Given the description of an element on the screen output the (x, y) to click on. 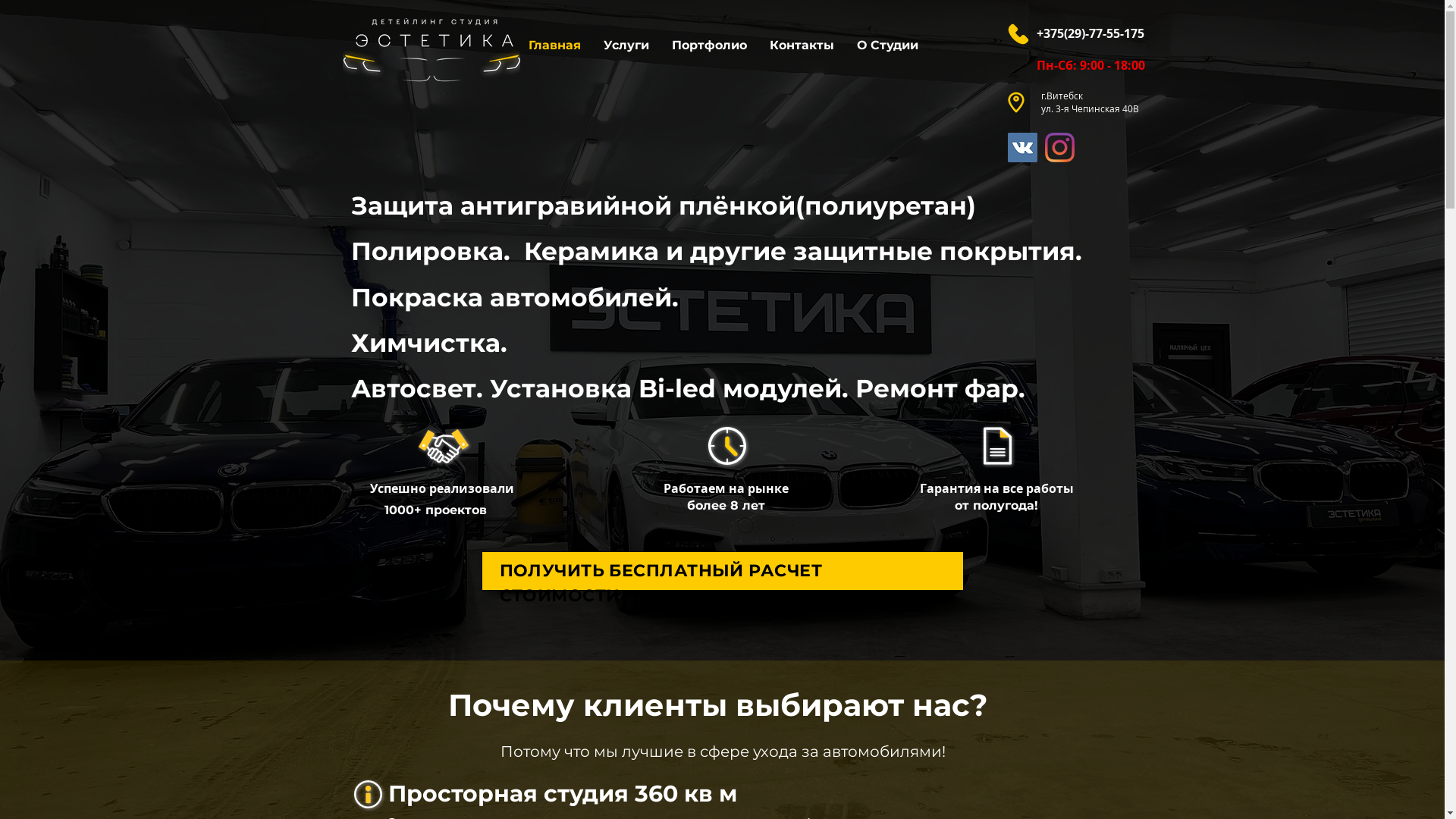
Embedded Content Element type: hover (1260, 686)
iconPlace.png Element type: hover (1015, 101)
iconRing.png Element type: hover (1017, 33)
